Given the description of an element on the screen output the (x, y) to click on. 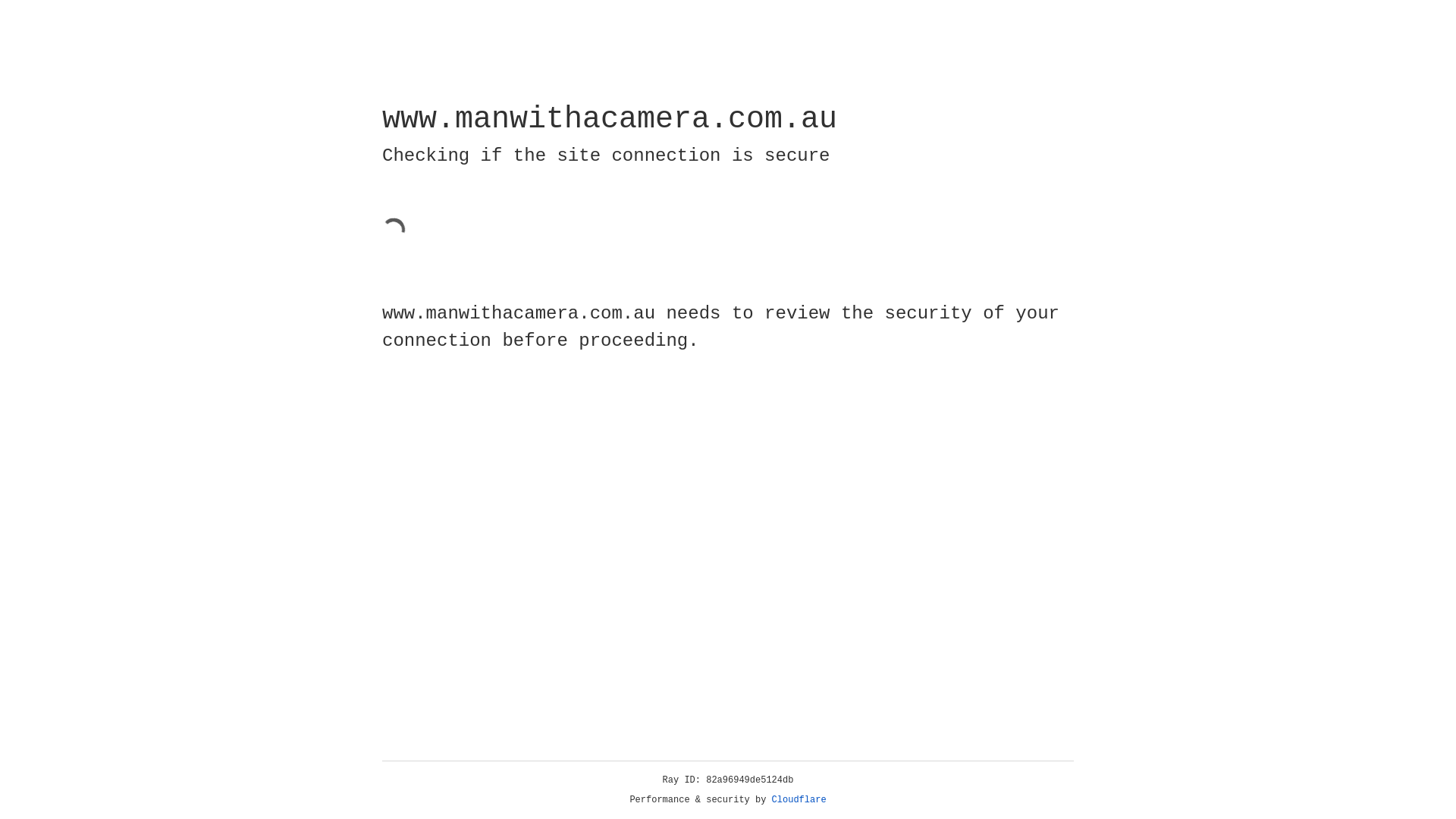
Cloudflare Element type: text (798, 799)
